Given the description of an element on the screen output the (x, y) to click on. 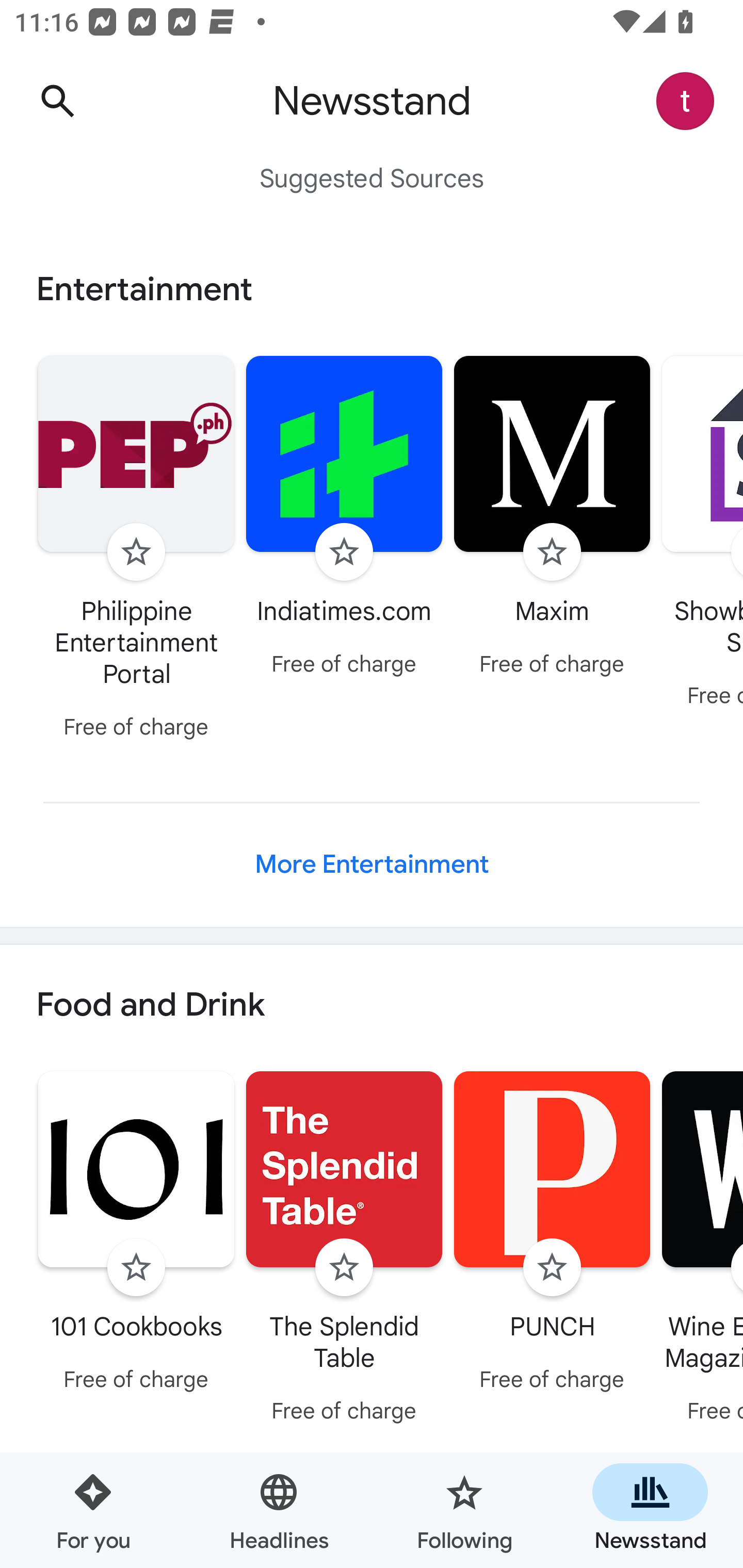
Search (57, 100)
Entertainment (371, 288)
Follow Indiatimes.com Free of charge (344, 517)
Follow Maxim Free of charge (552, 517)
Follow (135, 551)
Follow (343, 551)
Follow (552, 551)
More Entertainment (371, 864)
Food and Drink (371, 1005)
Follow 101 Cookbooks Free of charge (136, 1234)
Follow The Splendid Table Free of charge (344, 1250)
Follow PUNCH Free of charge (552, 1234)
Follow (135, 1267)
Follow (343, 1267)
Follow (552, 1267)
For you (92, 1509)
Headlines (278, 1509)
Following (464, 1509)
Newsstand (650, 1509)
